Given the description of an element on the screen output the (x, y) to click on. 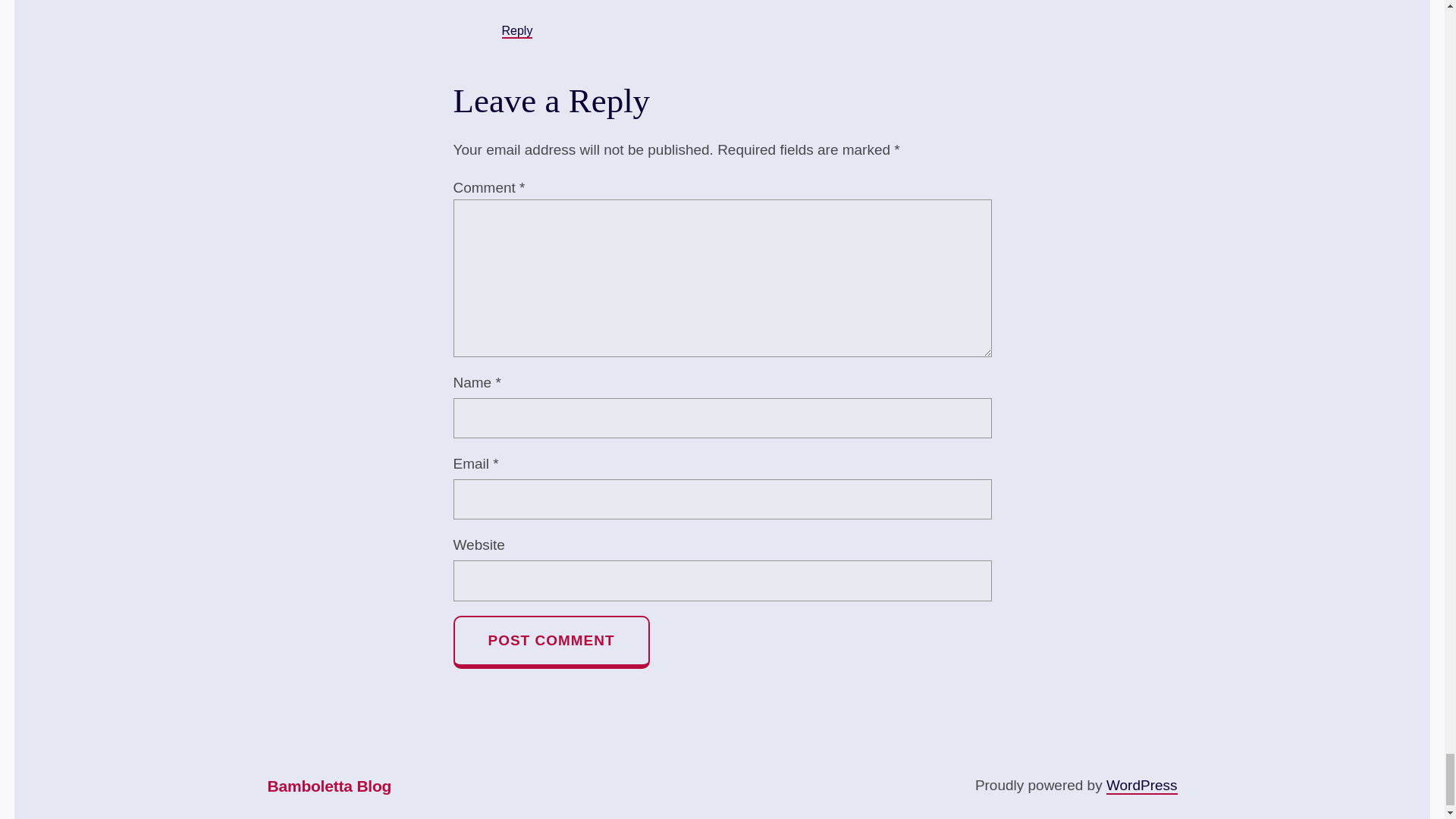
Post Comment (550, 642)
